Given the description of an element on the screen output the (x, y) to click on. 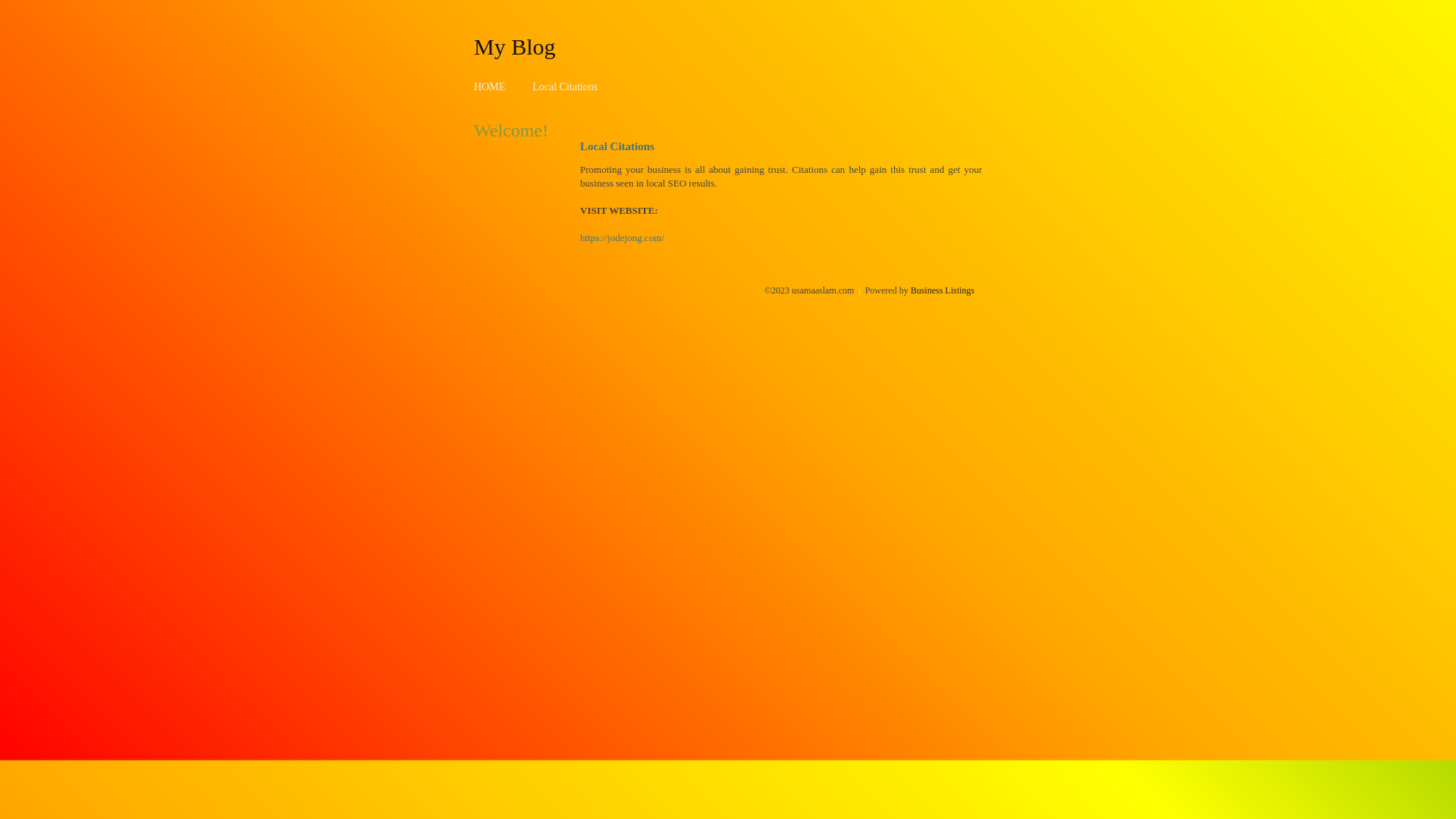
https://jodejong.com/ Element type: text (622, 237)
My Blog Element type: text (514, 46)
Local Citations Element type: text (564, 86)
Business Listings Element type: text (942, 290)
HOME Element type: text (489, 86)
